Given the description of an element on the screen output the (x, y) to click on. 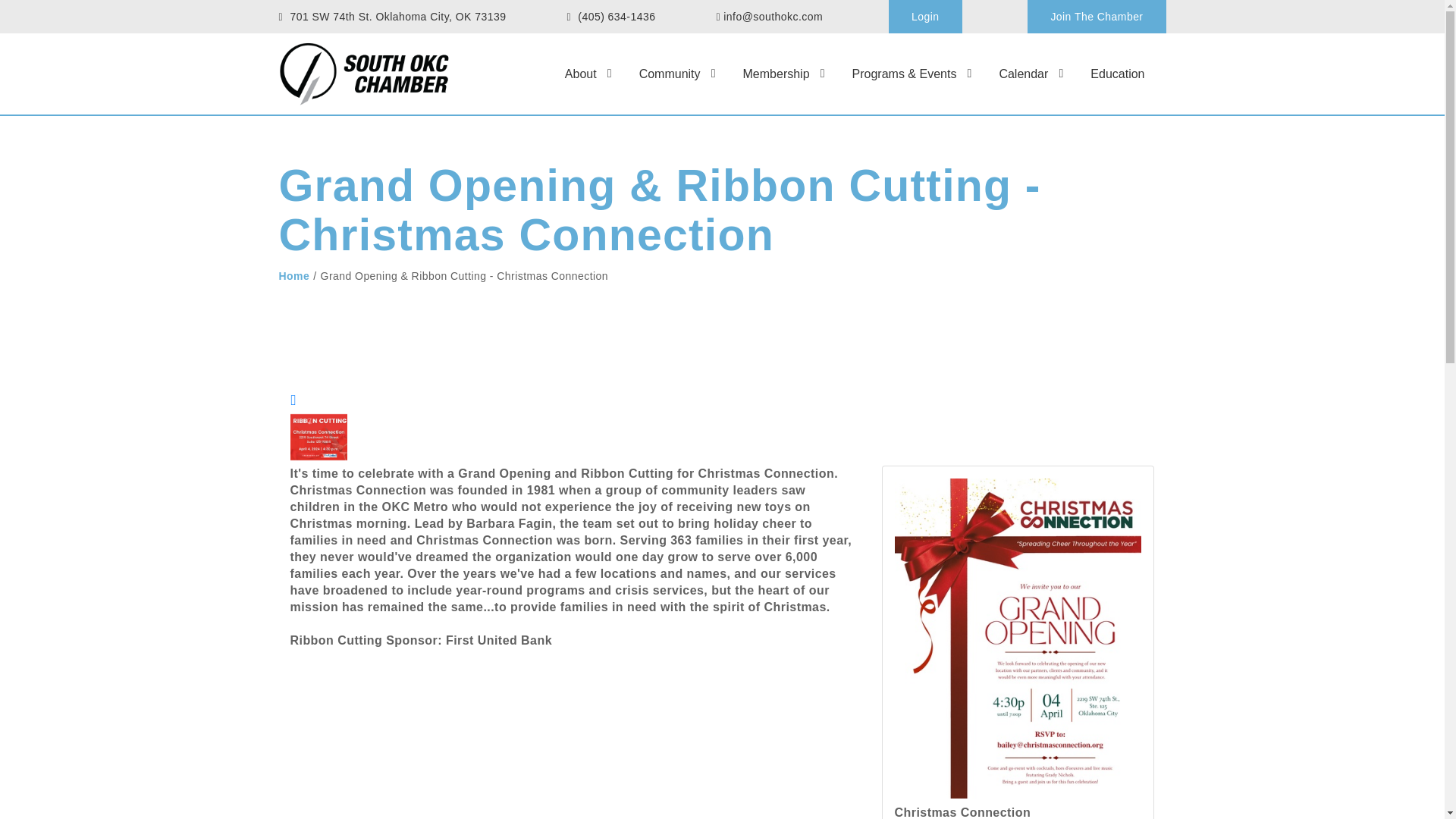
Join The Chamber (1096, 16)
Education (1117, 74)
Membership (775, 74)
Login (925, 16)
Calendar (1023, 74)
Community (669, 74)
Home (294, 275)
About (580, 74)
